Given the description of an element on the screen output the (x, y) to click on. 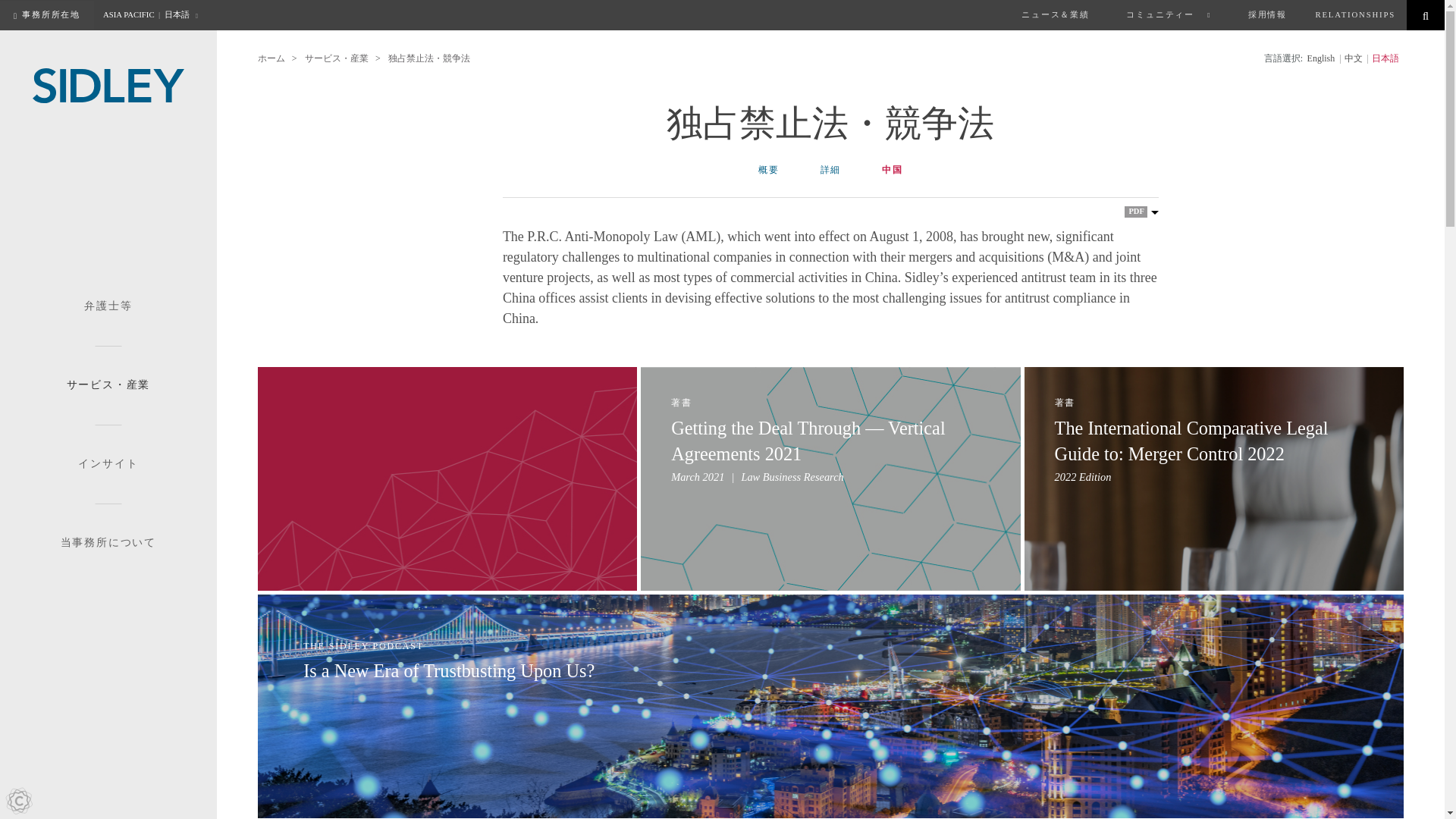
RELATIONSHIPS (1355, 15)
English (1321, 58)
